Given the description of an element on the screen output the (x, y) to click on. 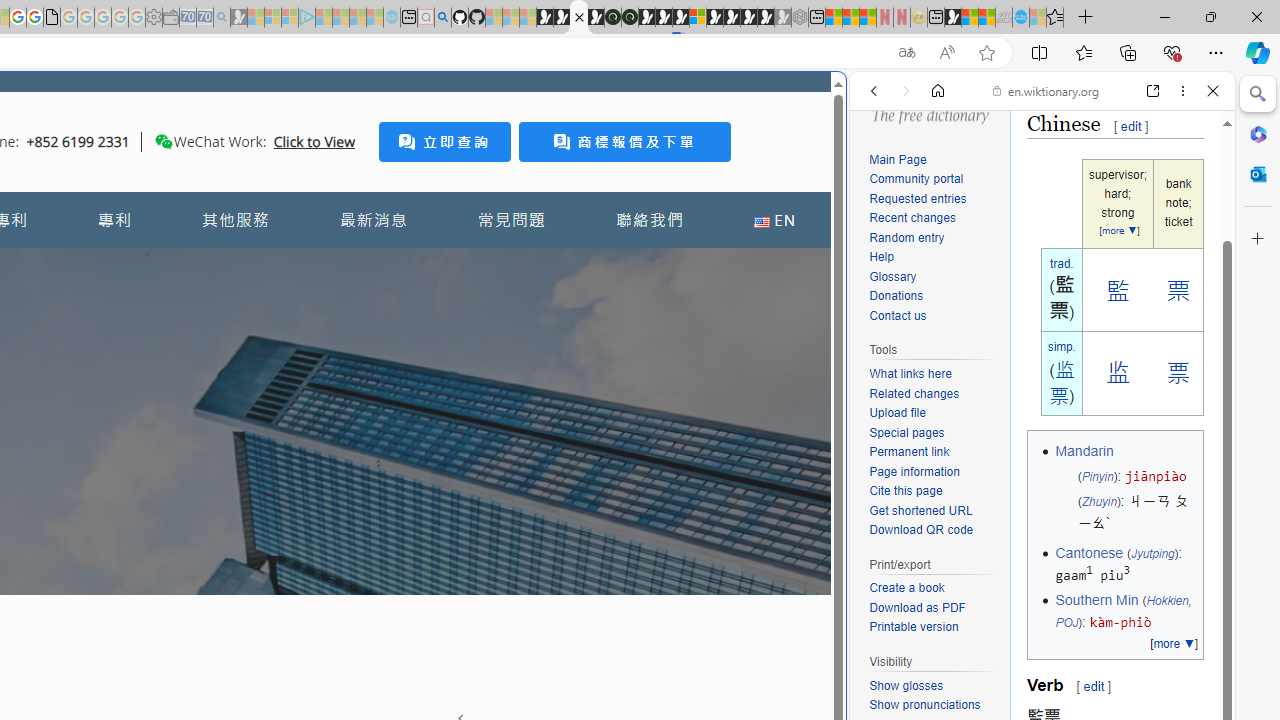
trad. (1061, 263)
Page information (914, 470)
Settings - Sleeping (153, 17)
Related changes (934, 393)
Show pronunciations (924, 704)
Related changes (914, 393)
Special pages (906, 431)
Recent changes (912, 218)
Show pronunciations (934, 705)
